Given the description of an element on the screen output the (x, y) to click on. 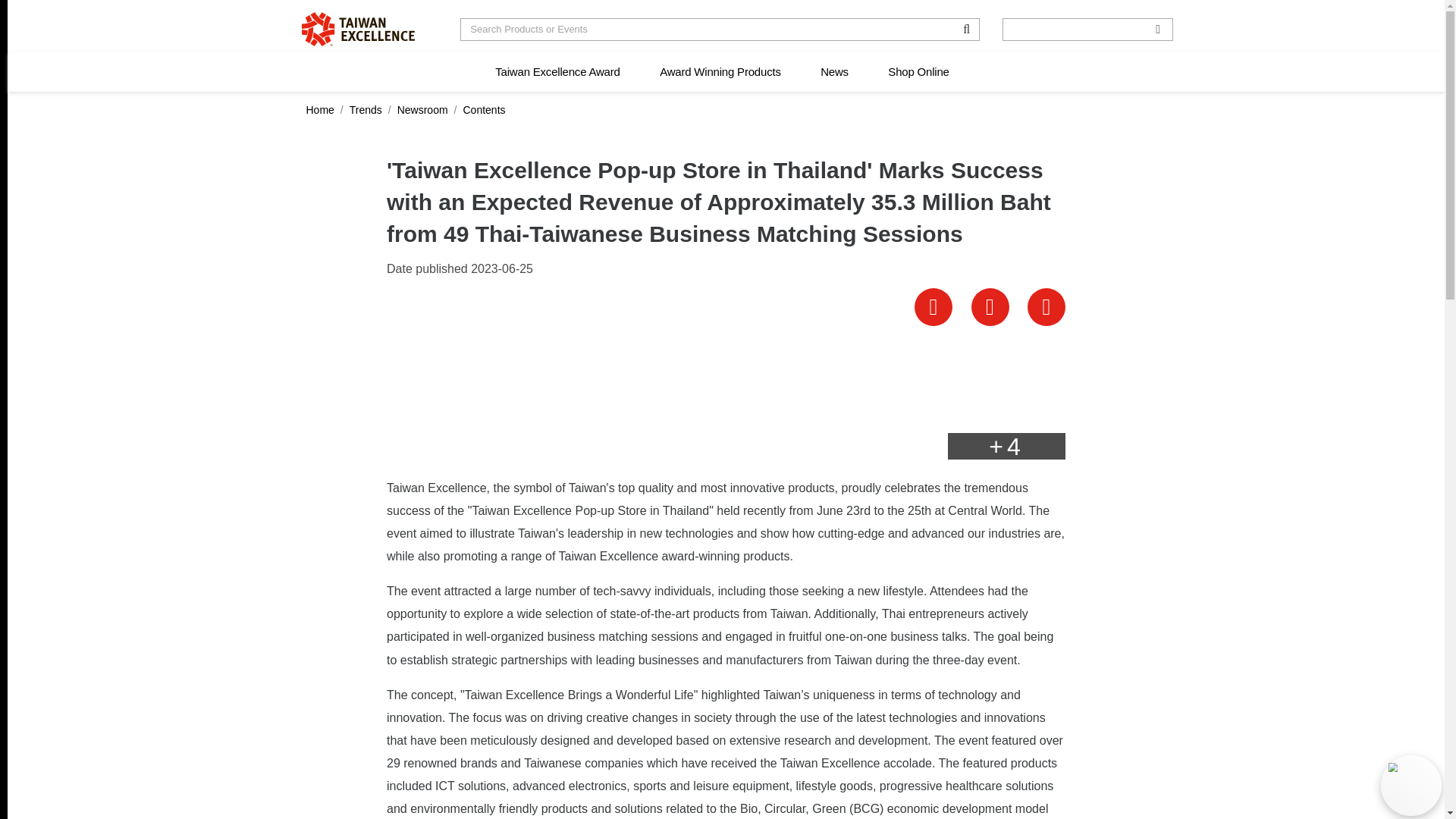
Taiwan Excellence Award (557, 72)
Home (357, 28)
News (834, 72)
Award Winning Products (720, 72)
Award Winning Products (720, 72)
Newsroom (422, 110)
Shop Online (918, 72)
Trends (365, 110)
Submit (24, 11)
Home (319, 110)
